Given the description of an element on the screen output the (x, y) to click on. 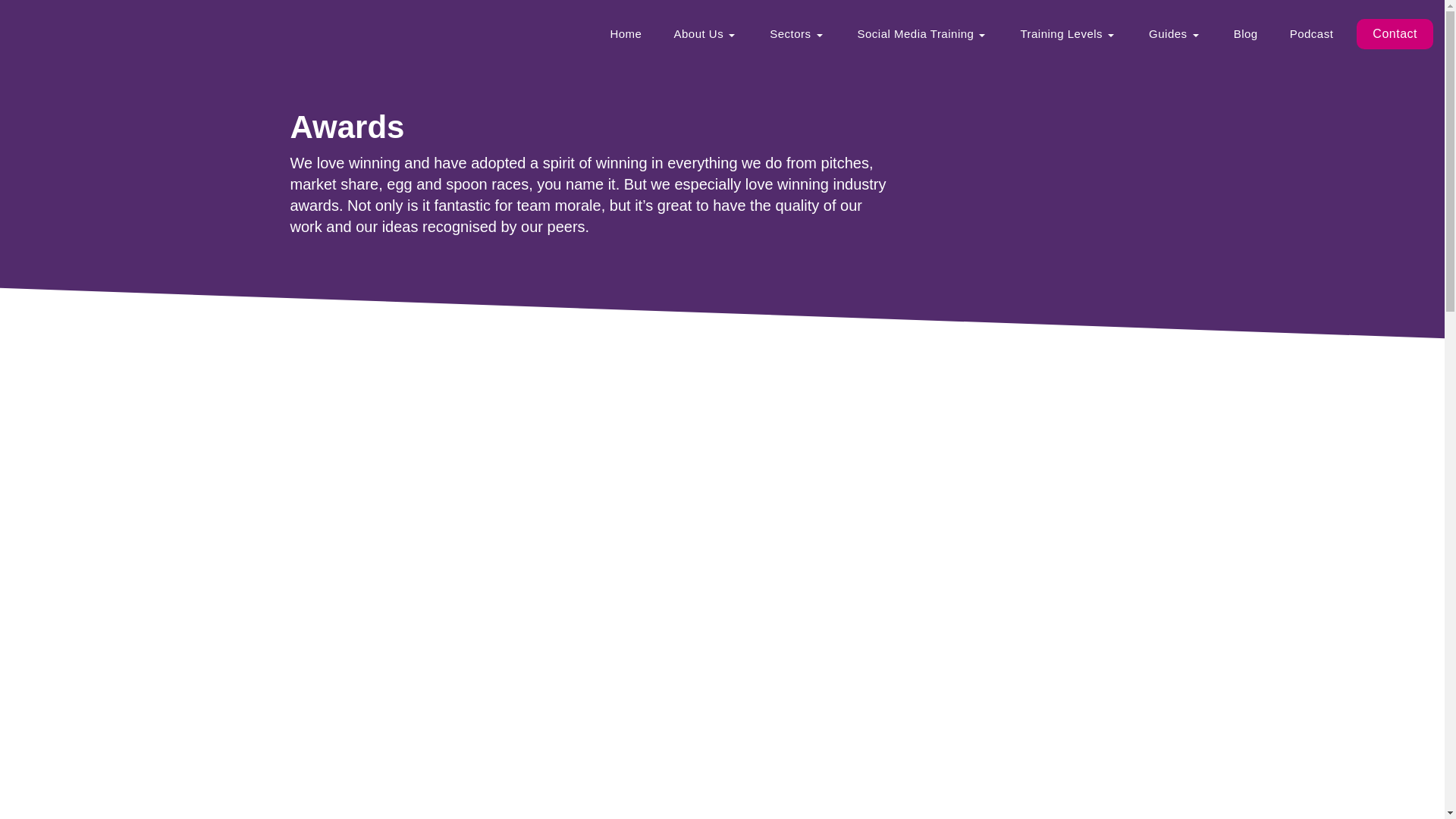
Social Media Training (921, 33)
About Us (705, 33)
Home (625, 33)
Sectors (797, 33)
